Given the description of an element on the screen output the (x, y) to click on. 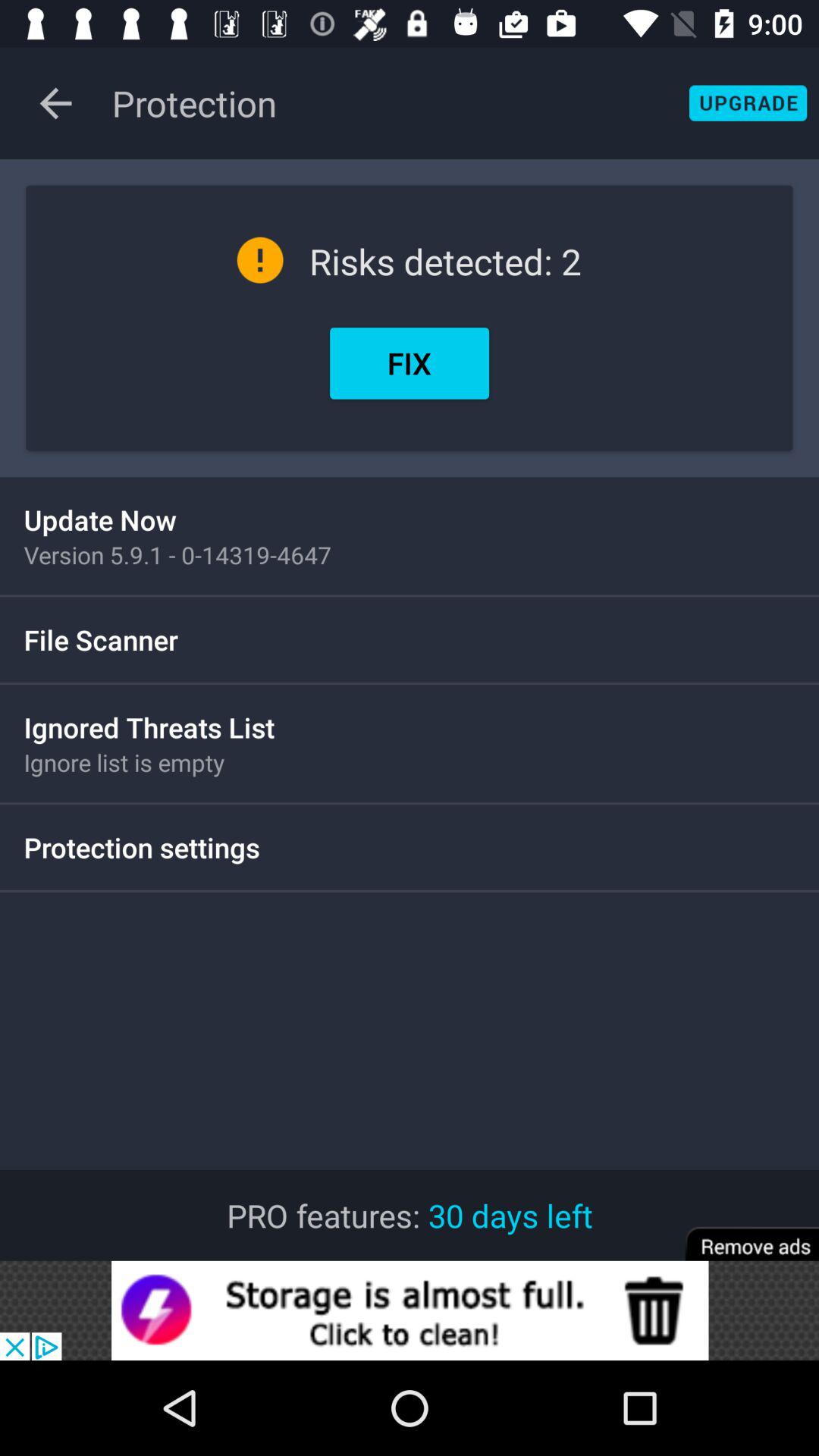
go back (55, 103)
